Given the description of an element on the screen output the (x, y) to click on. 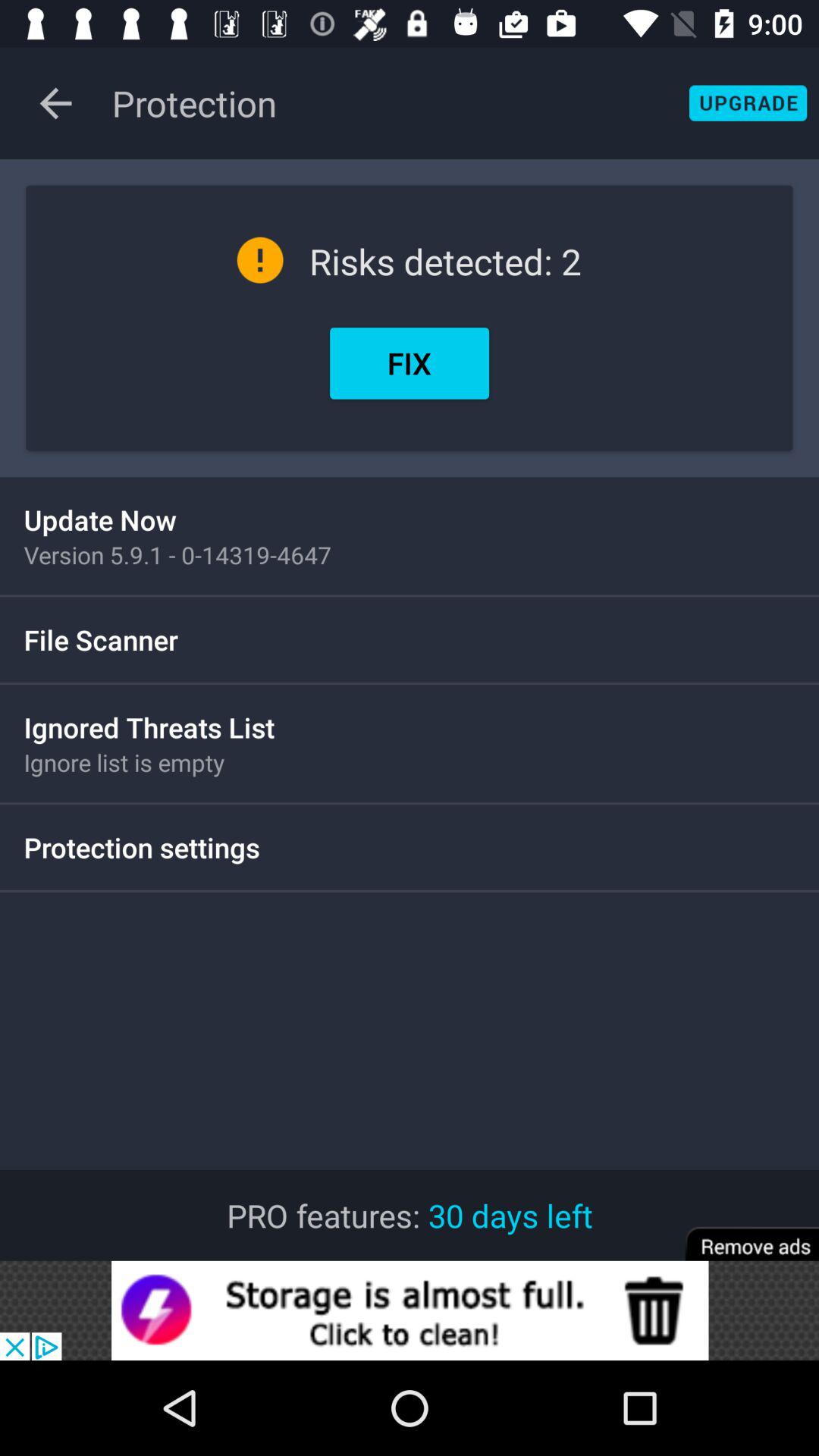
go back (55, 103)
